Given the description of an element on the screen output the (x, y) to click on. 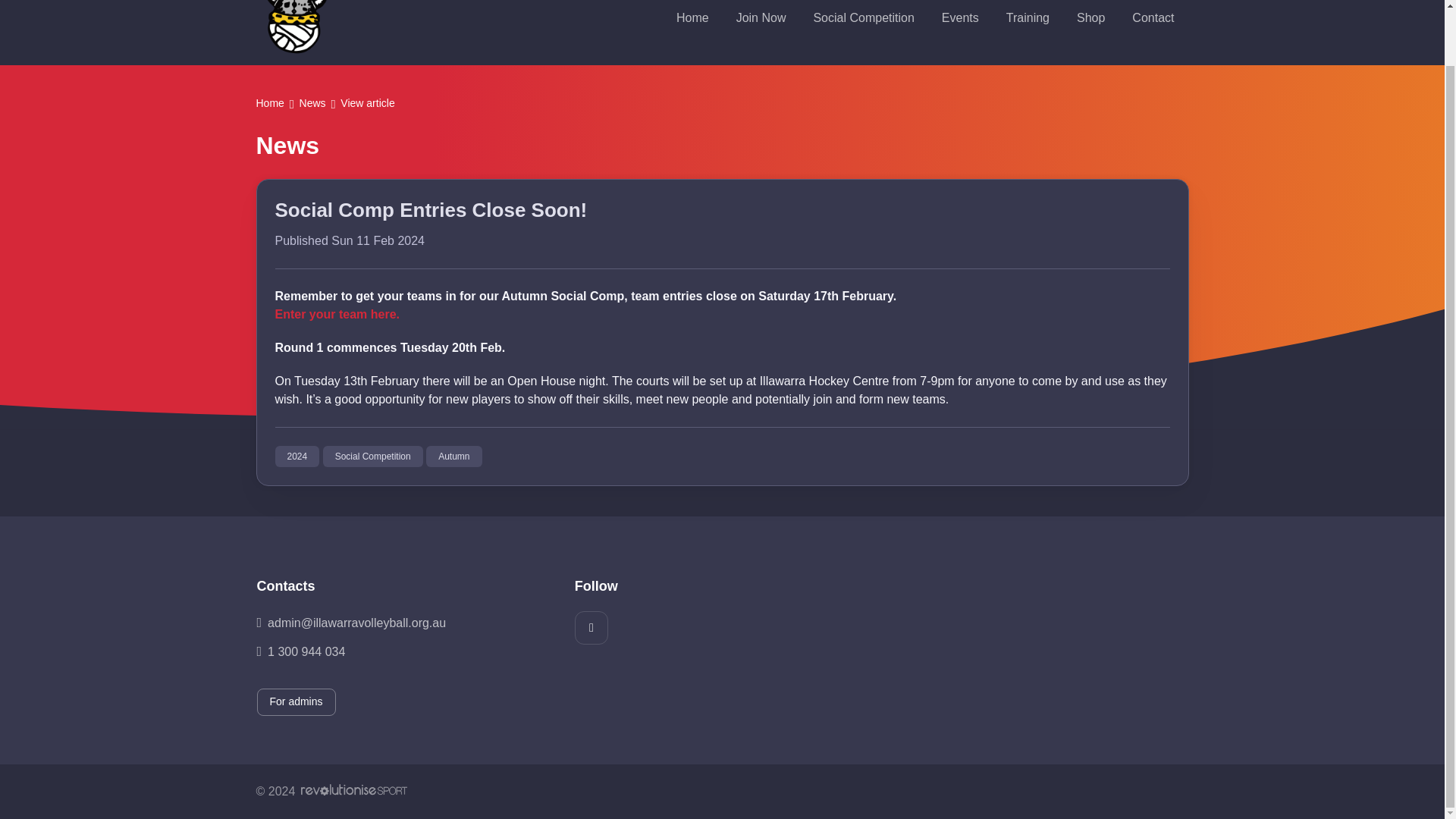
Contact (1153, 18)
Home (269, 104)
Home (692, 18)
Events (960, 18)
For admins (295, 702)
Autumn (453, 455)
Social Competition (863, 18)
Enter your team here. (336, 314)
1 300 944 034 (403, 651)
Training (1027, 18)
News (312, 104)
2024 (296, 455)
Social Competition (373, 455)
Join Now (760, 18)
Shop (1090, 18)
